Given the description of an element on the screen output the (x, y) to click on. 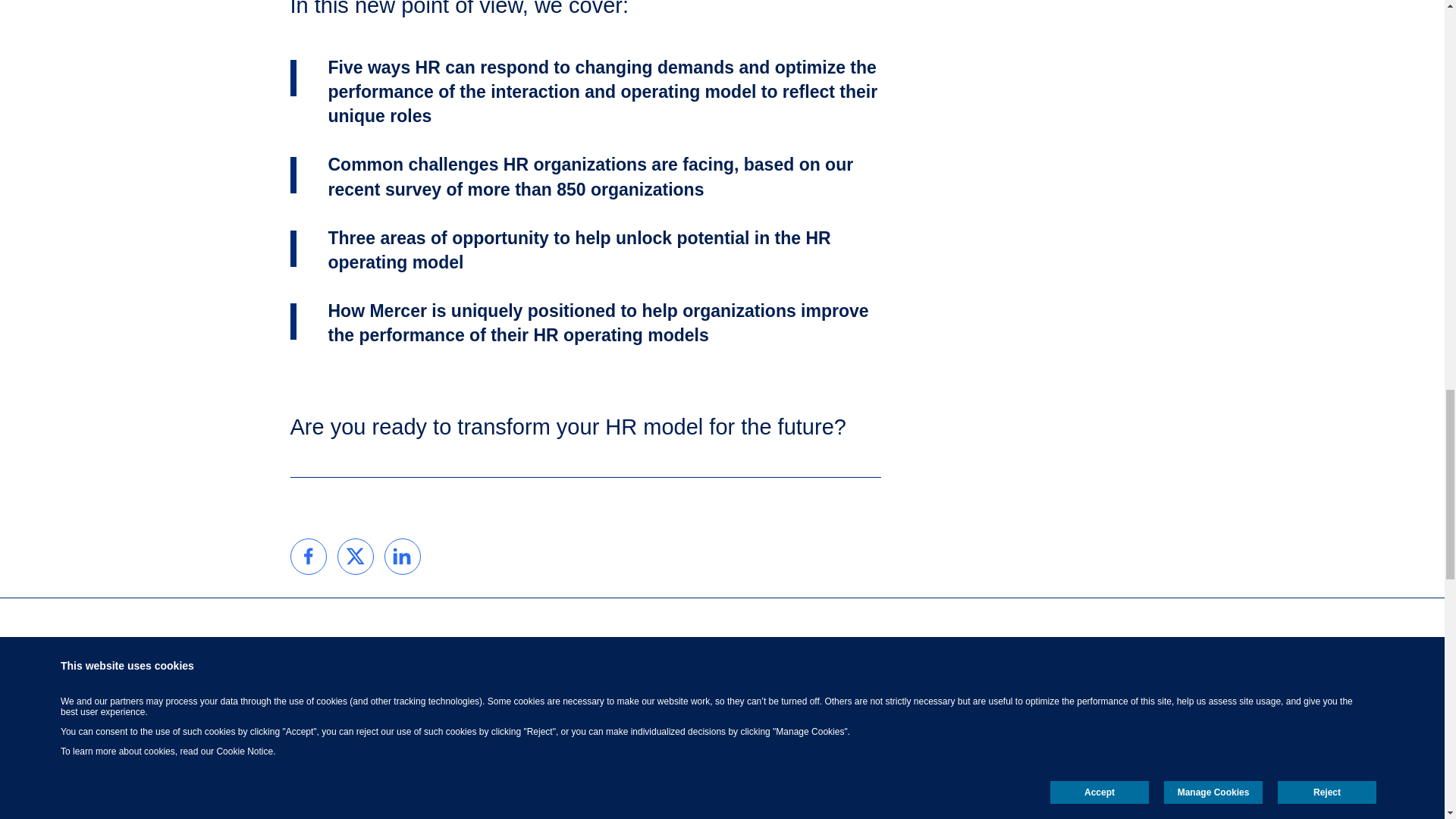
Share on Twitter (354, 555)
Share on Facebook (308, 555)
Share on LinkedIn (402, 555)
Share on Facebook (308, 555)
Share on Twitter (354, 555)
Share on LinkedIn (402, 555)
